Given the description of an element on the screen output the (x, y) to click on. 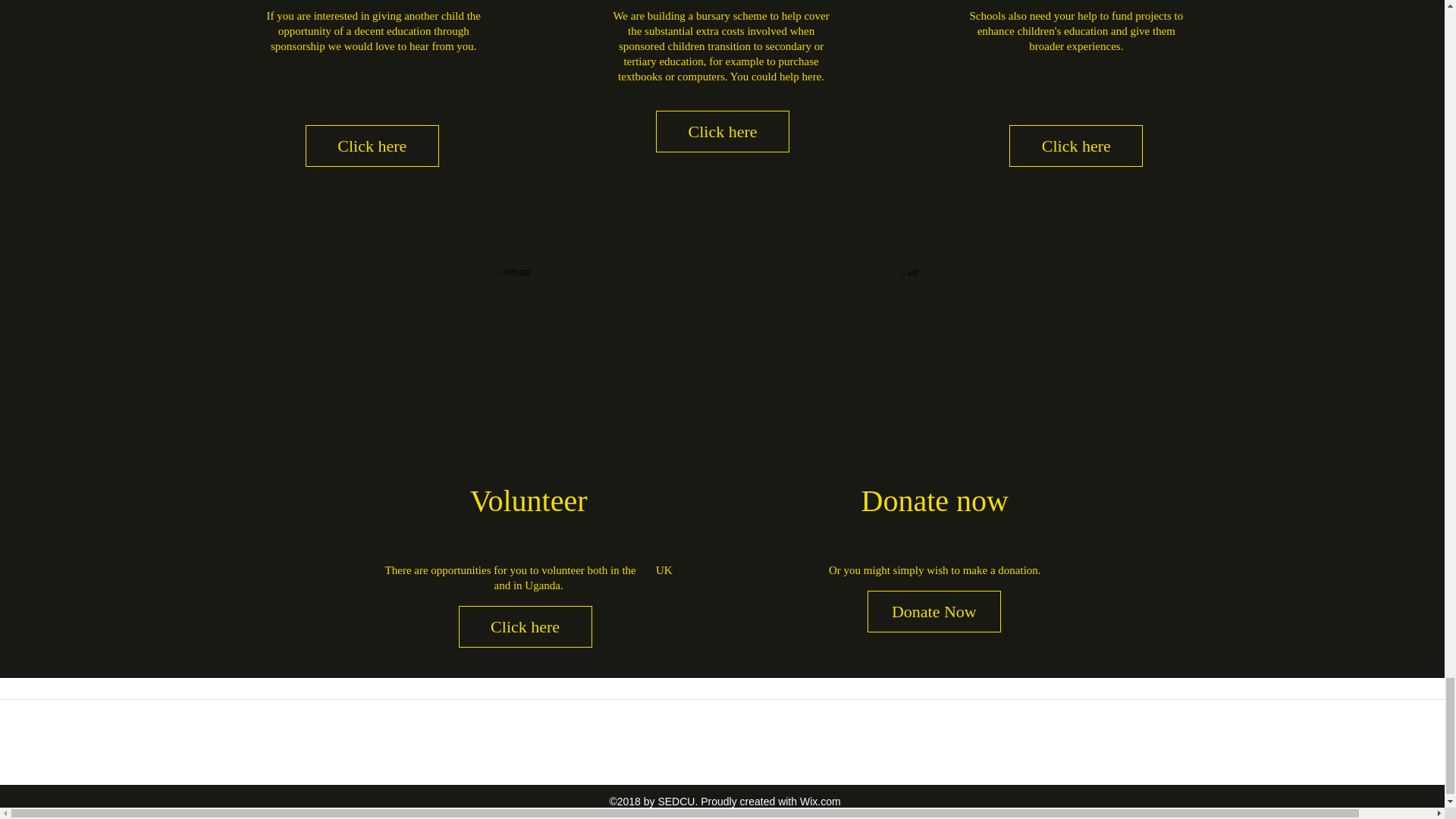
Click here (1075, 146)
Donate Now (934, 611)
Click here (722, 131)
Click here (372, 146)
Click here (525, 626)
